Given the description of an element on the screen output the (x, y) to click on. 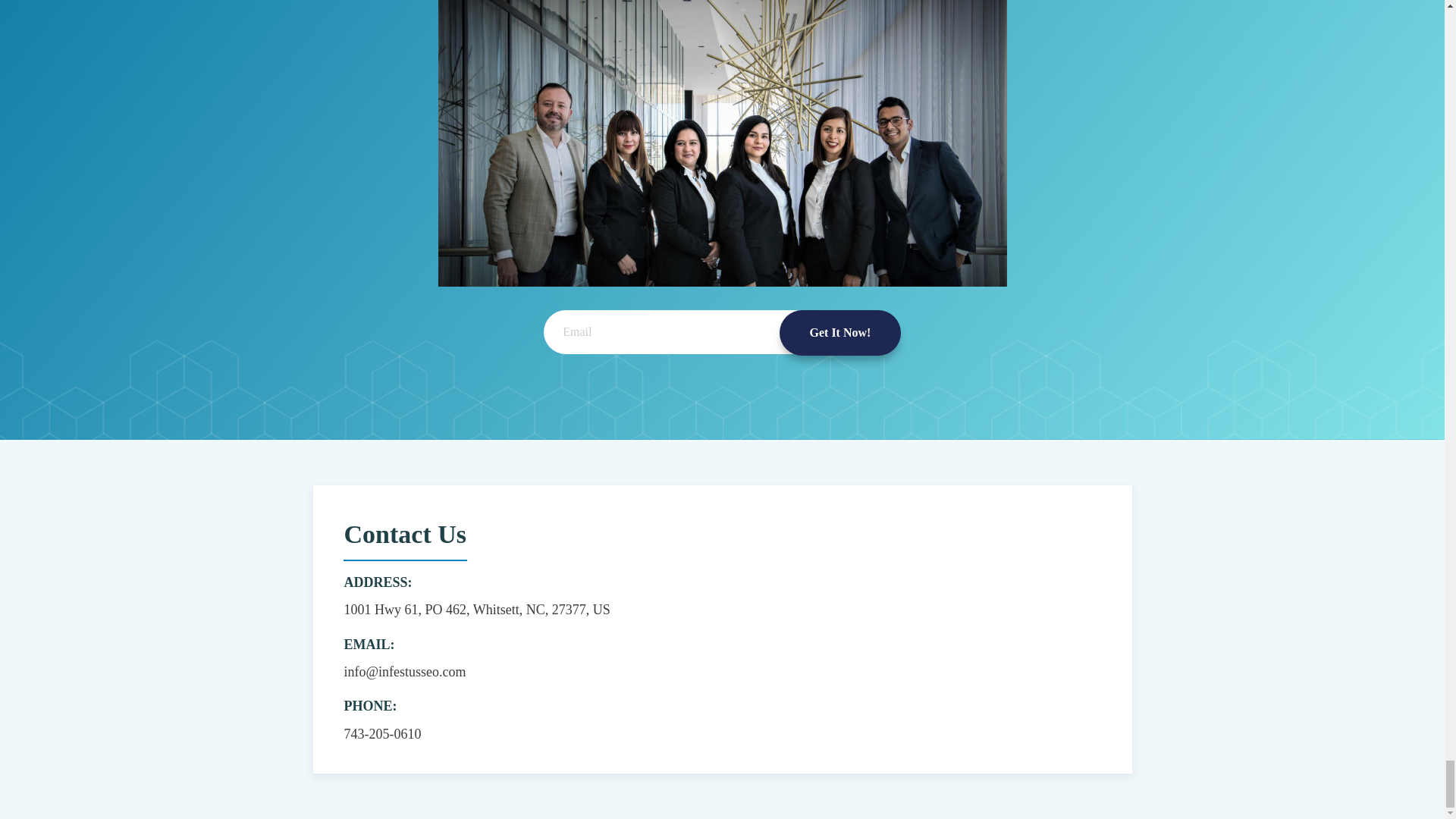
Get It Now! (839, 332)
